Given the description of an element on the screen output the (x, y) to click on. 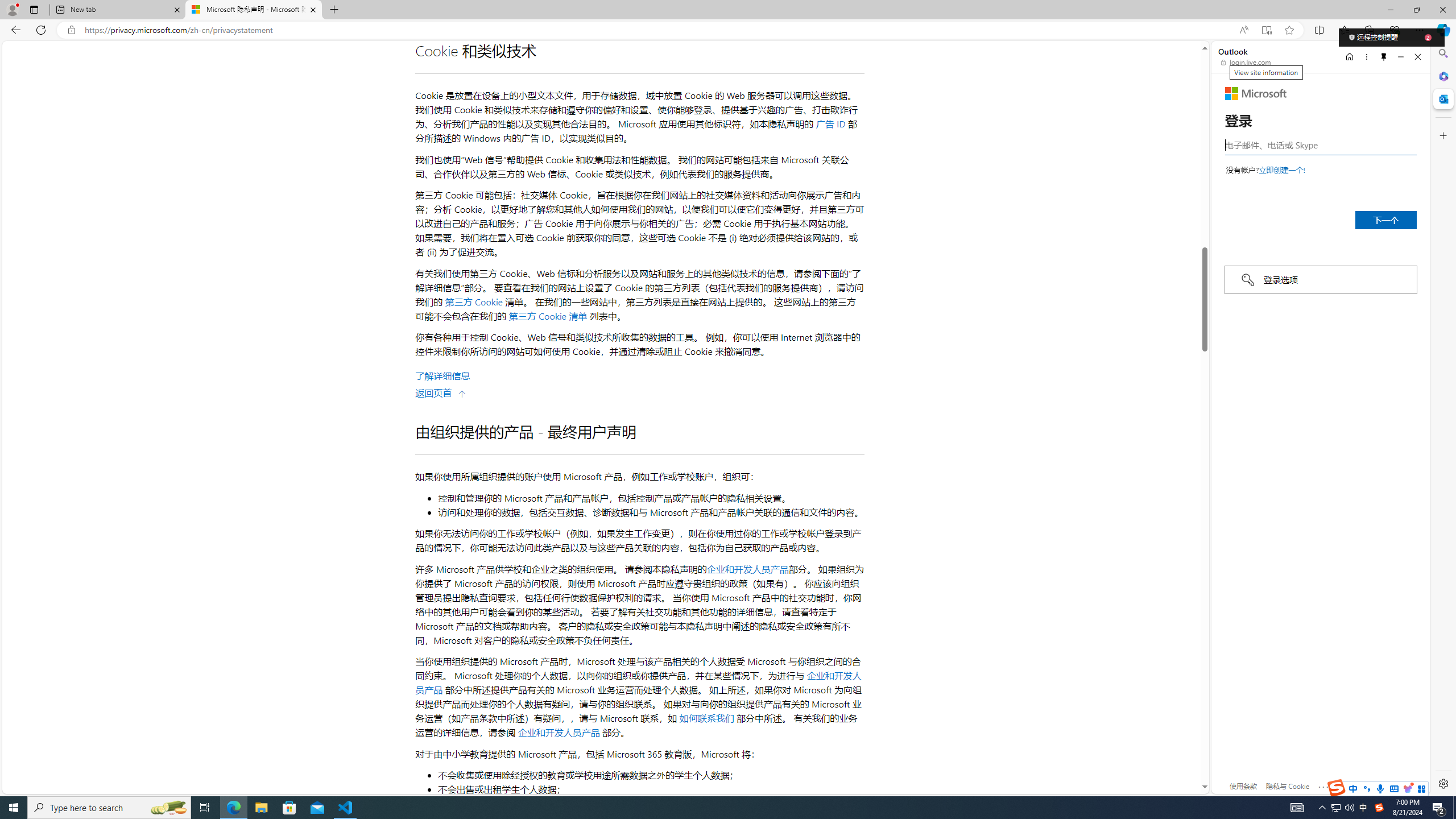
Home (1348, 56)
Read aloud this page (Ctrl+Shift+U) (1243, 29)
